Given the description of an element on the screen output the (x, y) to click on. 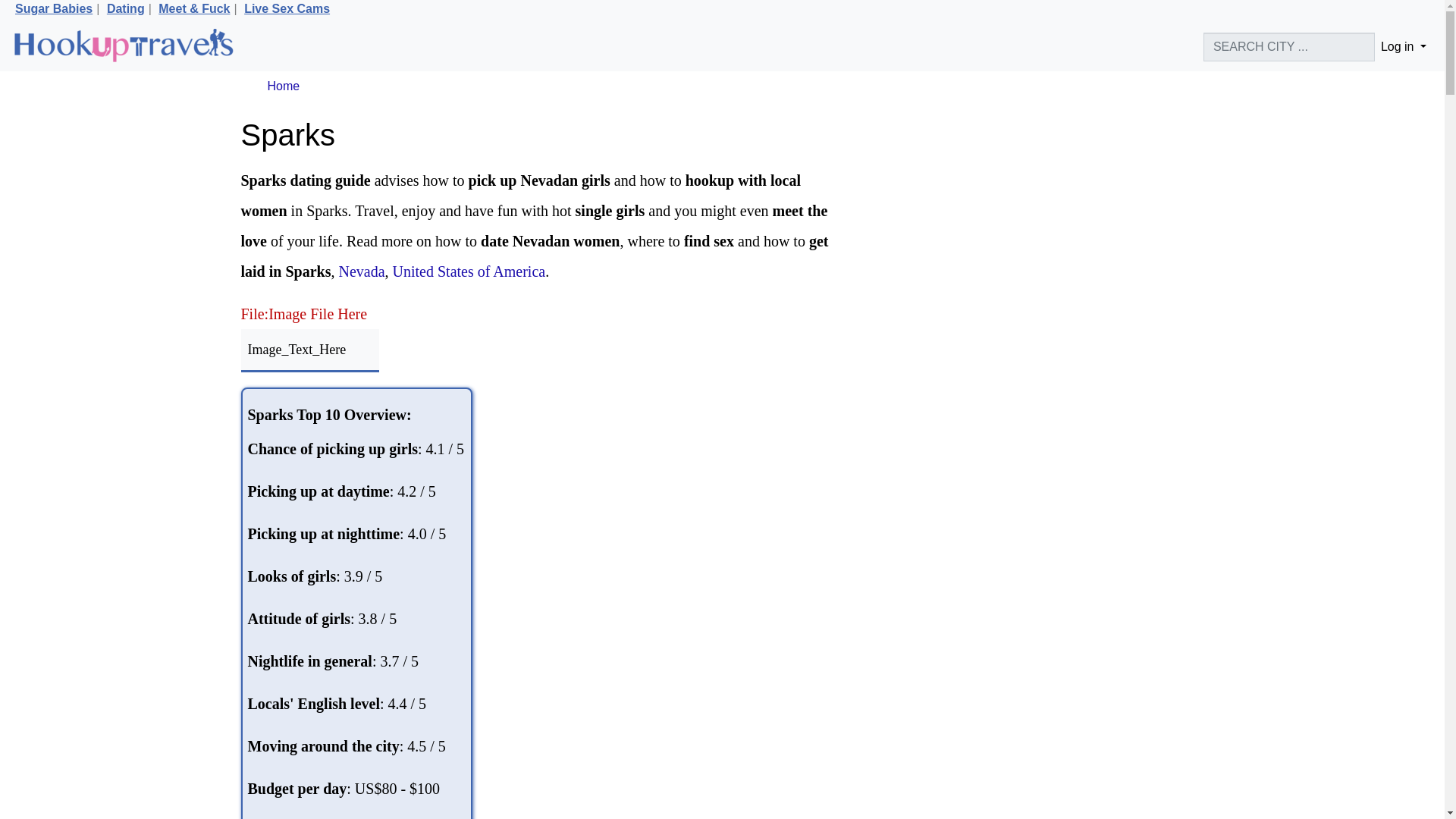
Home (282, 85)
Live Sex Cams (287, 8)
File:Image File Here (304, 313)
Hookup Travels (122, 46)
Nevada (360, 271)
Sugar Babies (53, 8)
File:Image File Here (304, 313)
United States of America (469, 271)
Log in (1403, 46)
Dating (125, 8)
